Given the description of an element on the screen output the (x, y) to click on. 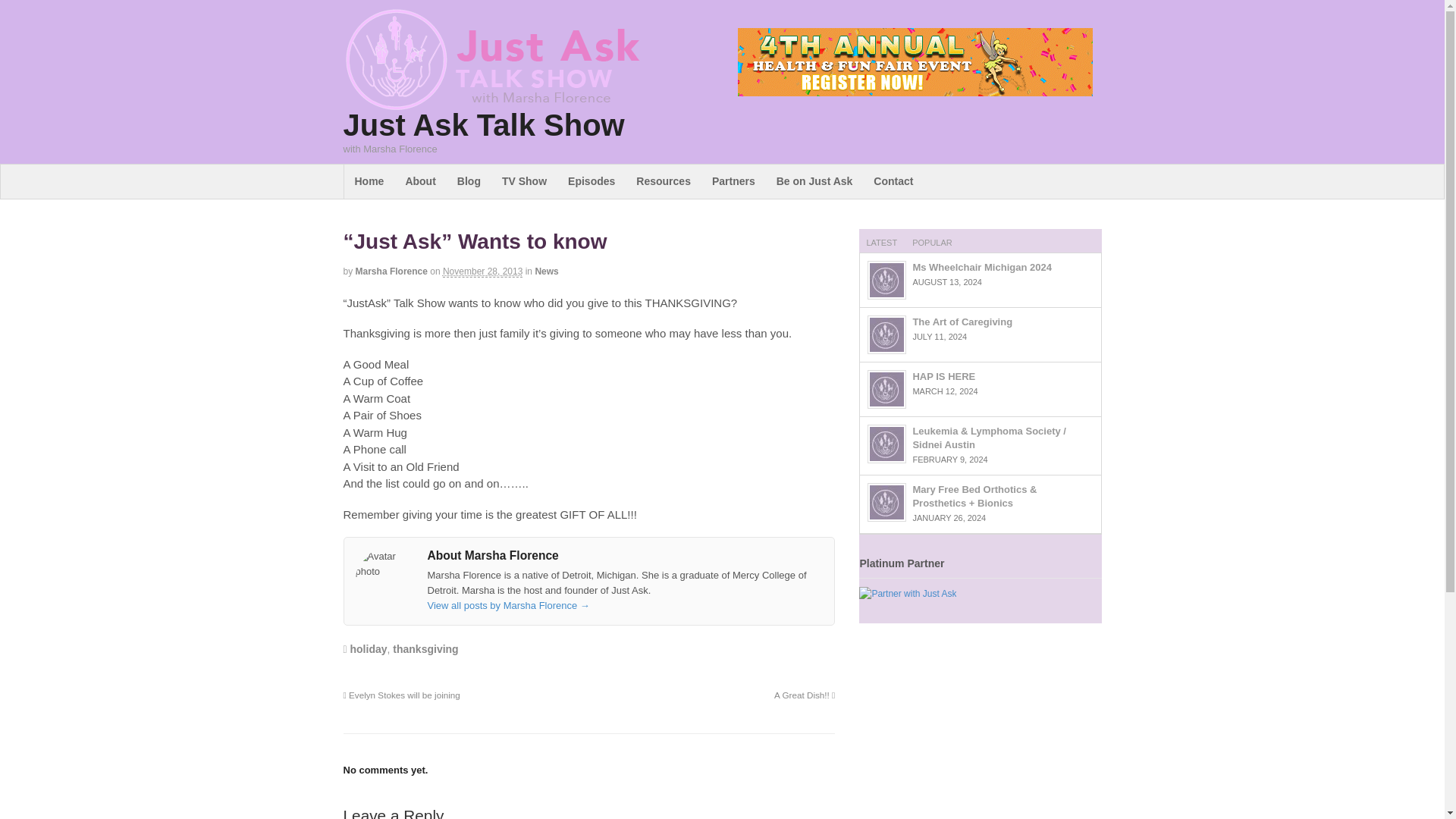
The Art of Caregiving (961, 321)
thanksgiving (425, 648)
About (419, 181)
Evelyn Stokes will be joining (401, 695)
Blog (469, 181)
The Art of Caregiving (886, 334)
LATEST (881, 241)
Home (368, 181)
with Marsha Florence (490, 101)
2013-11-28T22:33:44-0500 (482, 271)
